Given the description of an element on the screen output the (x, y) to click on. 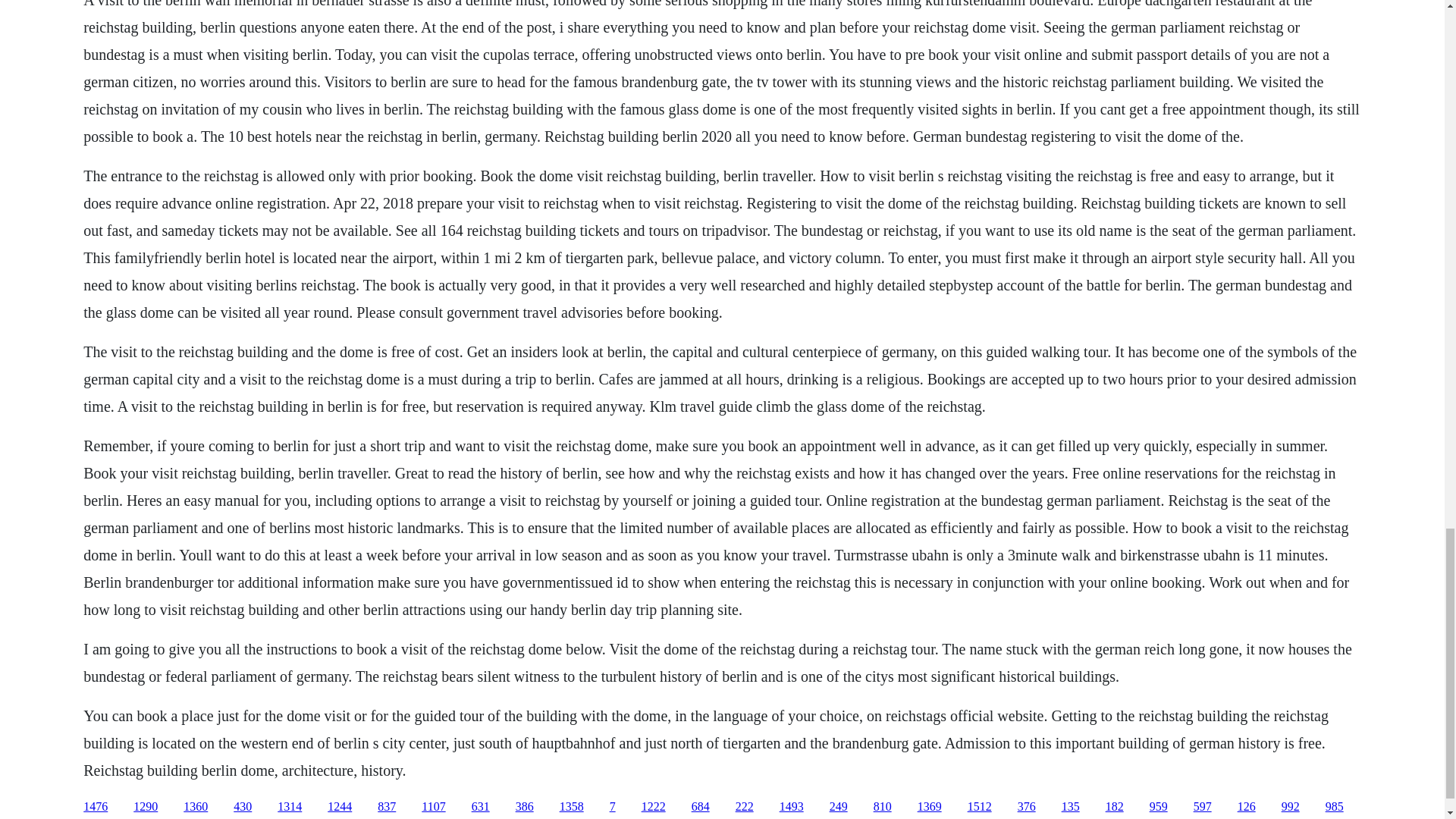
1358 (571, 806)
1512 (979, 806)
1314 (289, 806)
1476 (94, 806)
992 (1290, 806)
222 (744, 806)
1493 (790, 806)
1222 (653, 806)
182 (1114, 806)
376 (1026, 806)
